Given the description of an element on the screen output the (x, y) to click on. 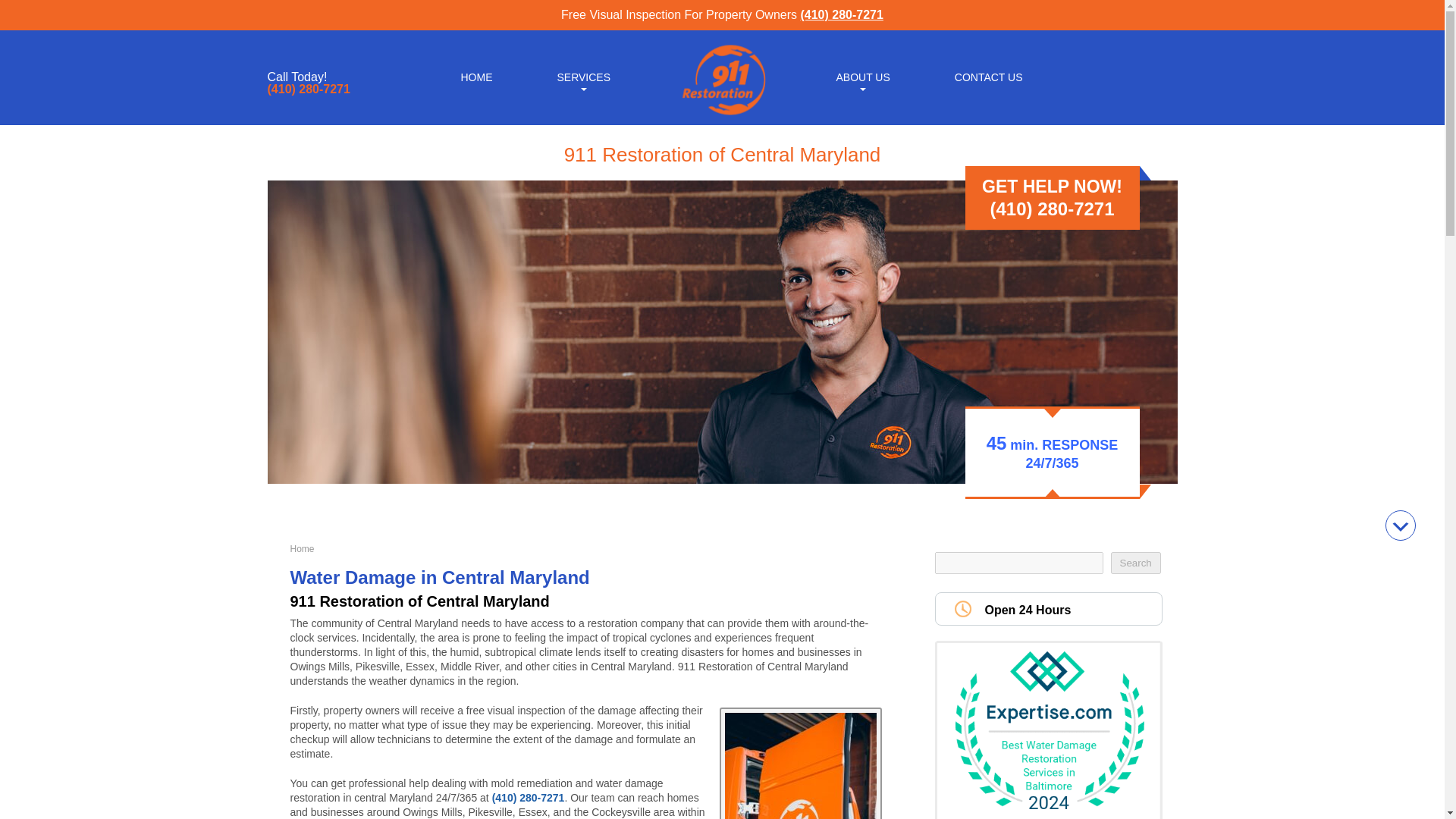
Scroll to Down  (1400, 525)
911 Water Damage Restoration Logo (721, 115)
HOME (476, 76)
SERVICES (582, 76)
ABOUT US (862, 76)
CONTACT US (988, 76)
Search (1134, 563)
